Given the description of an element on the screen output the (x, y) to click on. 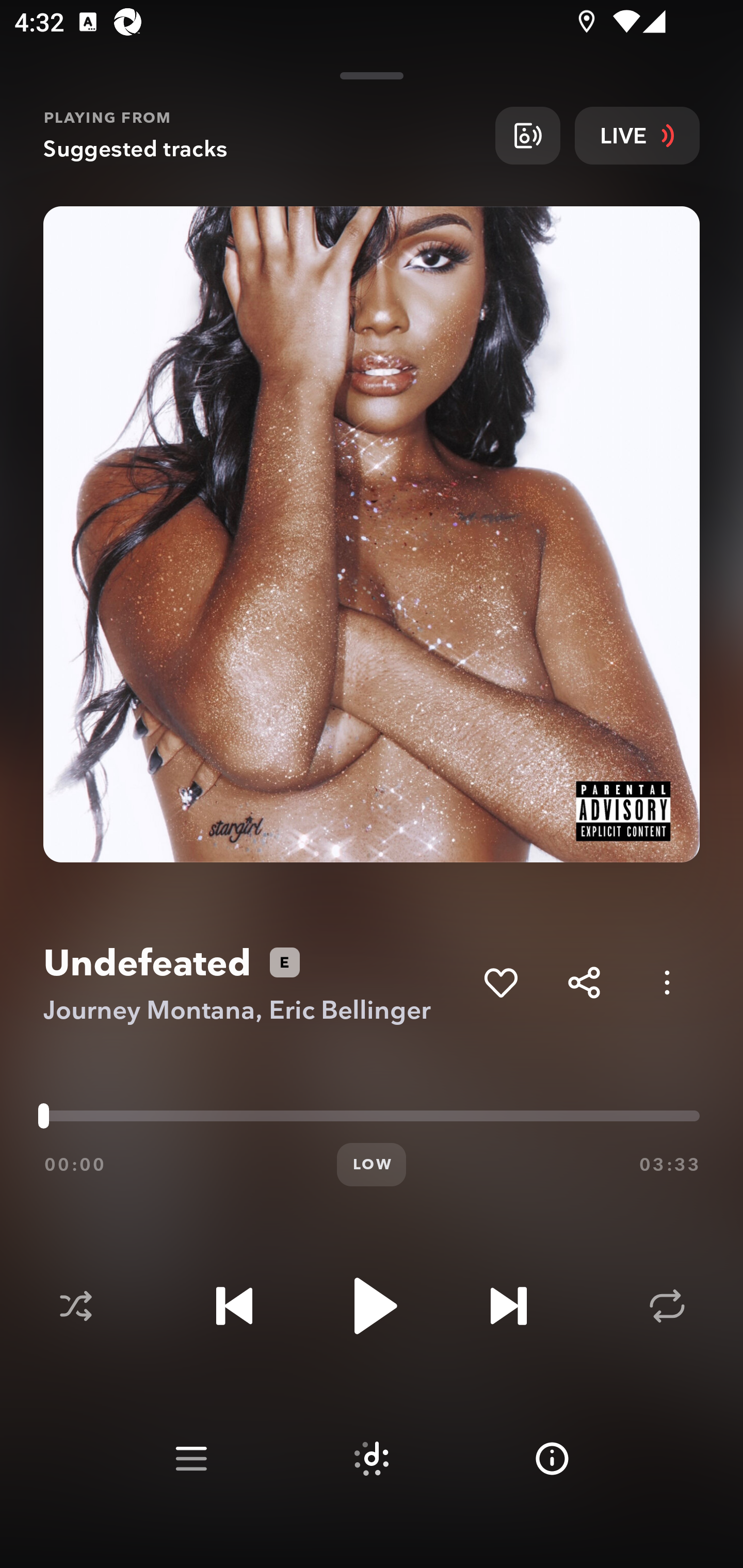
Broadcast (527, 135)
LIVE (637, 135)
PLAYING FROM Suggested tracks (261, 135)
Undefeated    Journey Montana, Eric Bellinger (255, 983)
Add to My Collection (500, 982)
Share (583, 982)
Options (666, 982)
LOW (371, 1164)
Play (371, 1306)
Previous (234, 1306)
Next (508, 1306)
Shuffle disabled (75, 1306)
Repeat Off (666, 1306)
Play queue (191, 1458)
Suggested tracks (371, 1458)
Info (551, 1458)
